Given the description of an element on the screen output the (x, y) to click on. 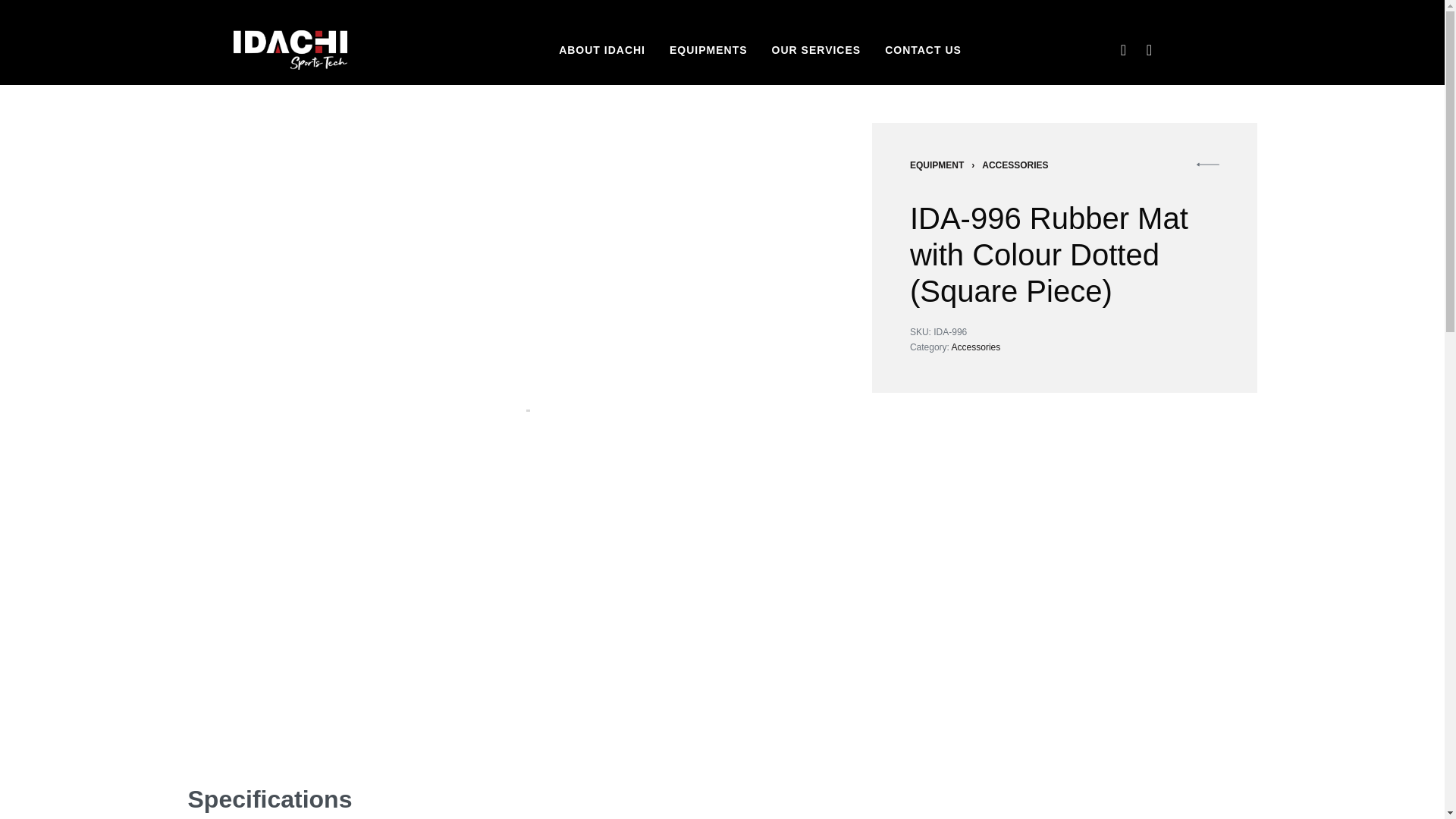
ABOUT IDACHI (602, 50)
OUR SERVICES (816, 50)
Accessories (976, 347)
EQUIPMENT (936, 163)
EQUIPMENTS (708, 50)
ACCESSORIES (1014, 163)
CONTACT US (922, 50)
